Given the description of an element on the screen output the (x, y) to click on. 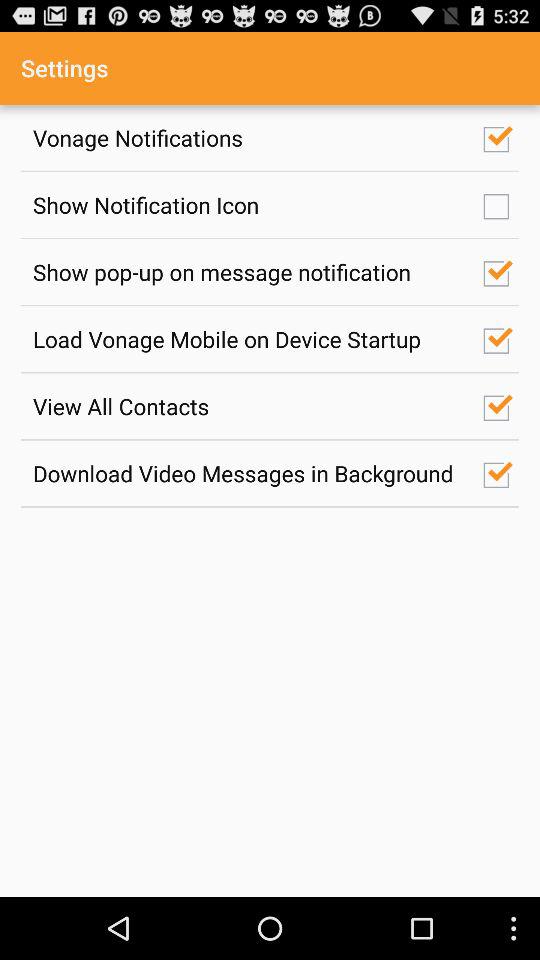
click the icon below settings (247, 137)
